Given the description of an element on the screen output the (x, y) to click on. 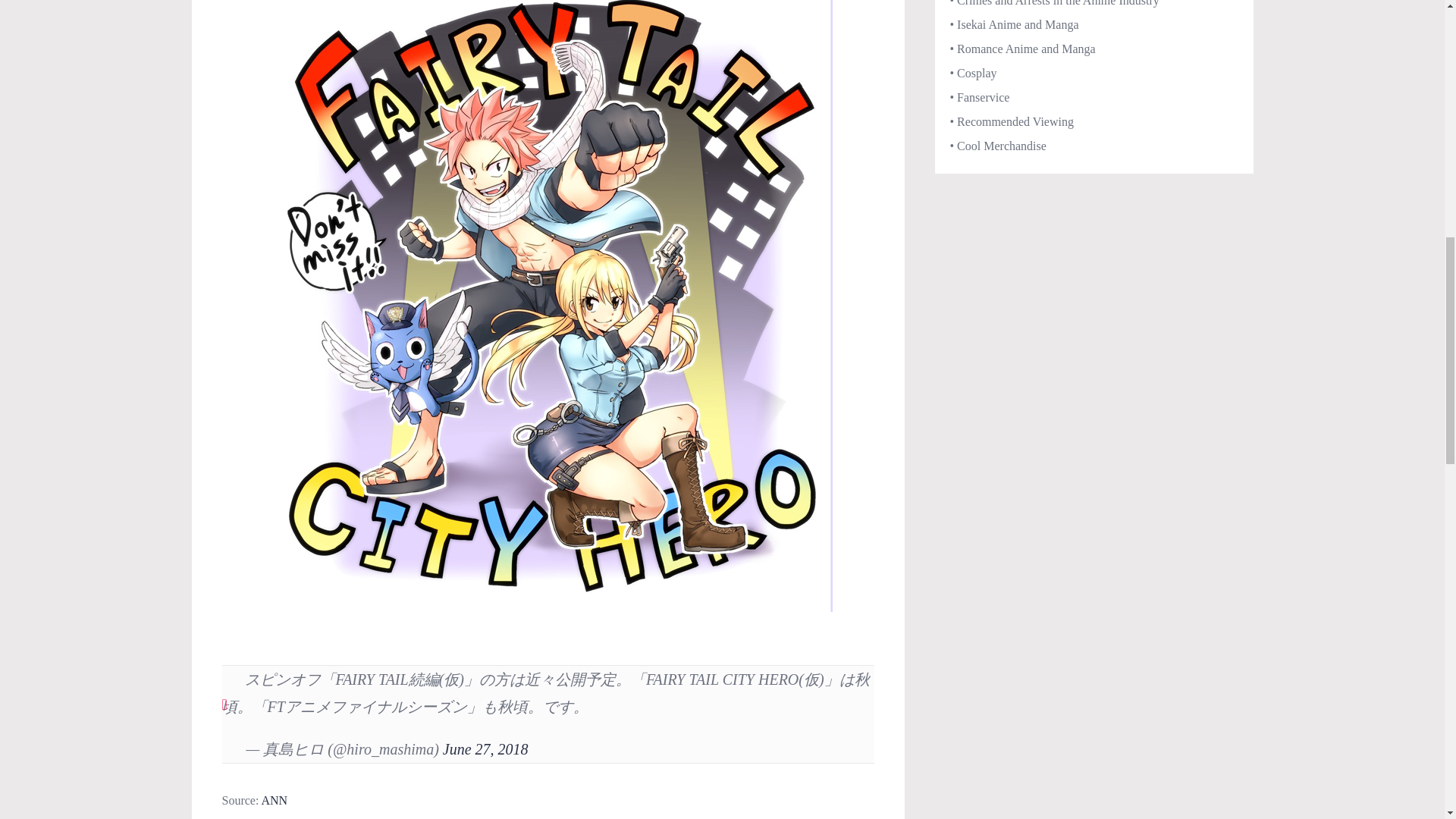
June 27, 2018 (485, 749)
ANN (273, 799)
